Given the description of an element on the screen output the (x, y) to click on. 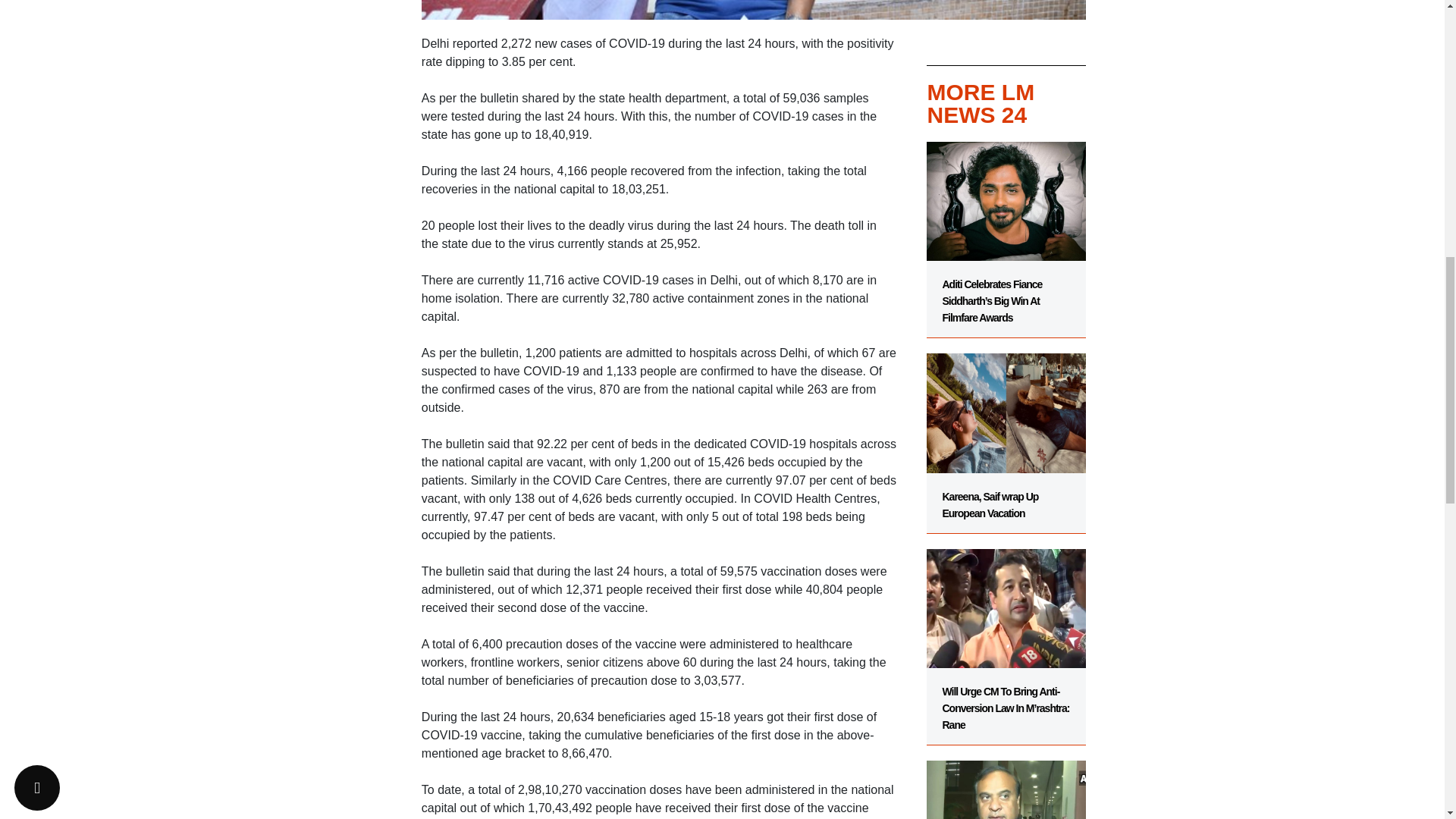
Assam Bringing Two Laws To Stop Love, Land Jihad: Himanta (1006, 782)
